Given the description of an element on the screen output the (x, y) to click on. 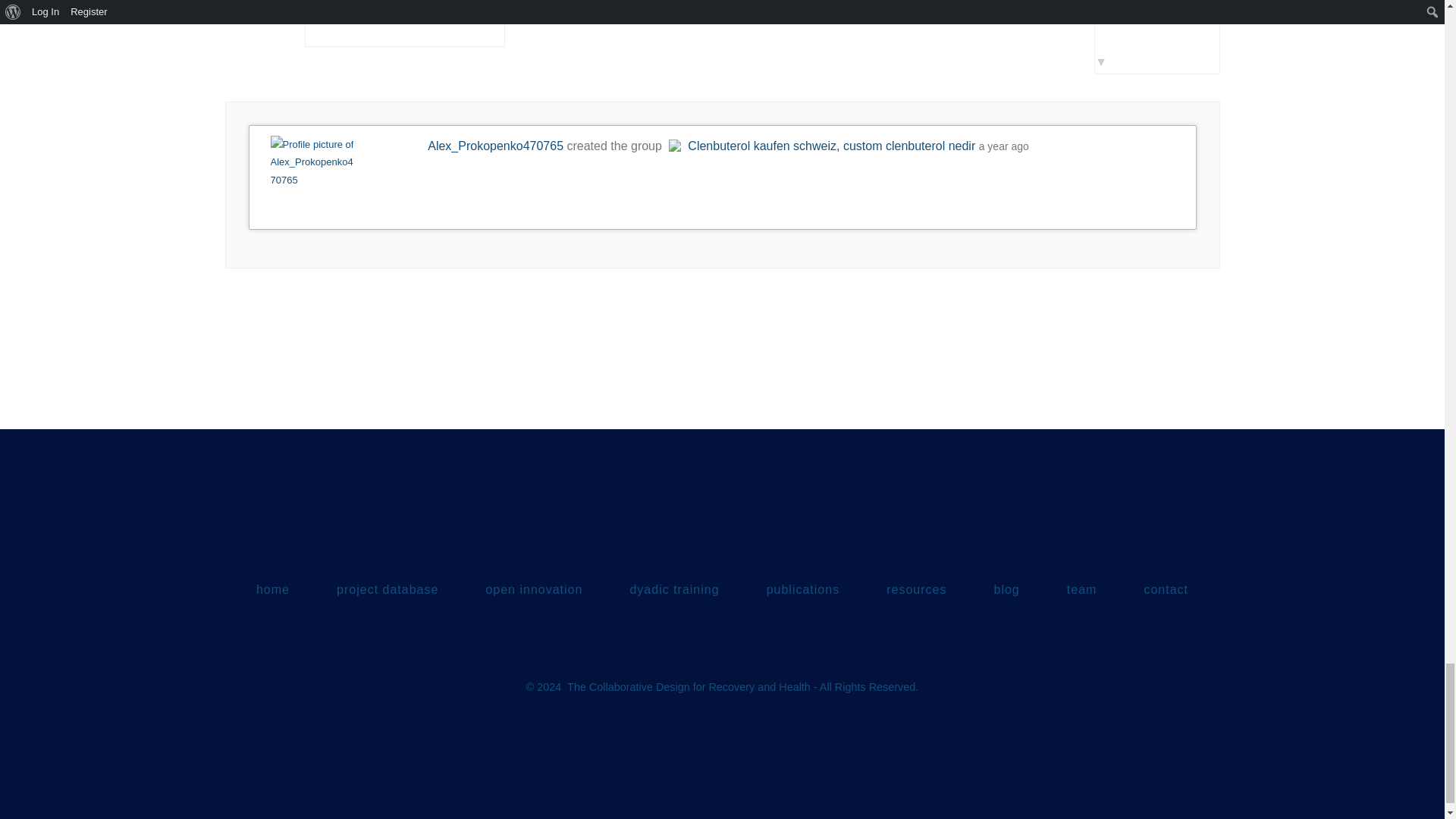
a year ago (1003, 145)
RSS (273, 10)
Search (483, 9)
project database (387, 589)
Clenbuterol kaufen schweiz, custom clenbuterol nedir (820, 145)
home (272, 589)
